Given the description of an element on the screen output the (x, y) to click on. 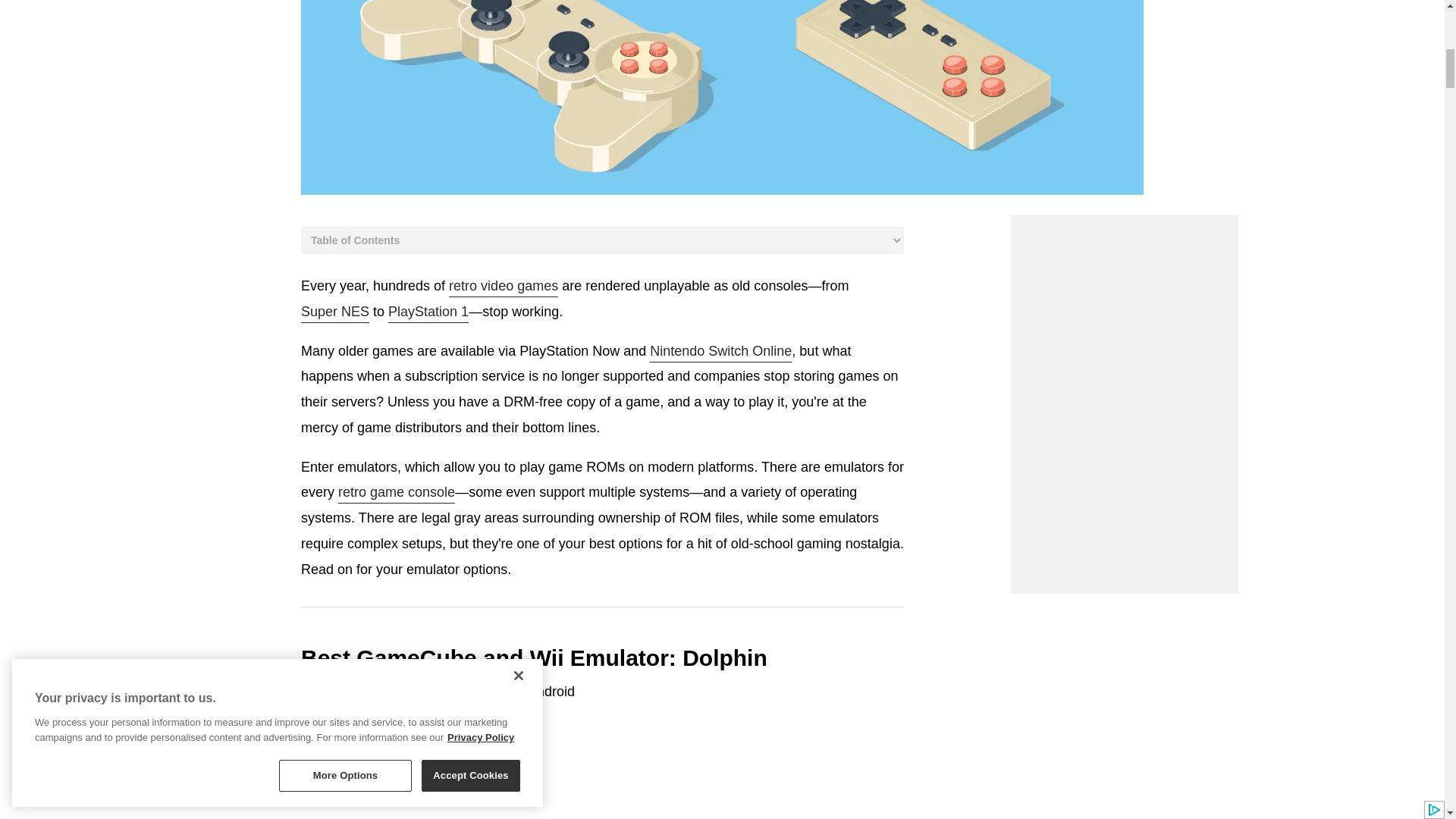
3rd party ad content (1123, 498)
3rd party ad content (1123, 309)
